Given the description of an element on the screen output the (x, y) to click on. 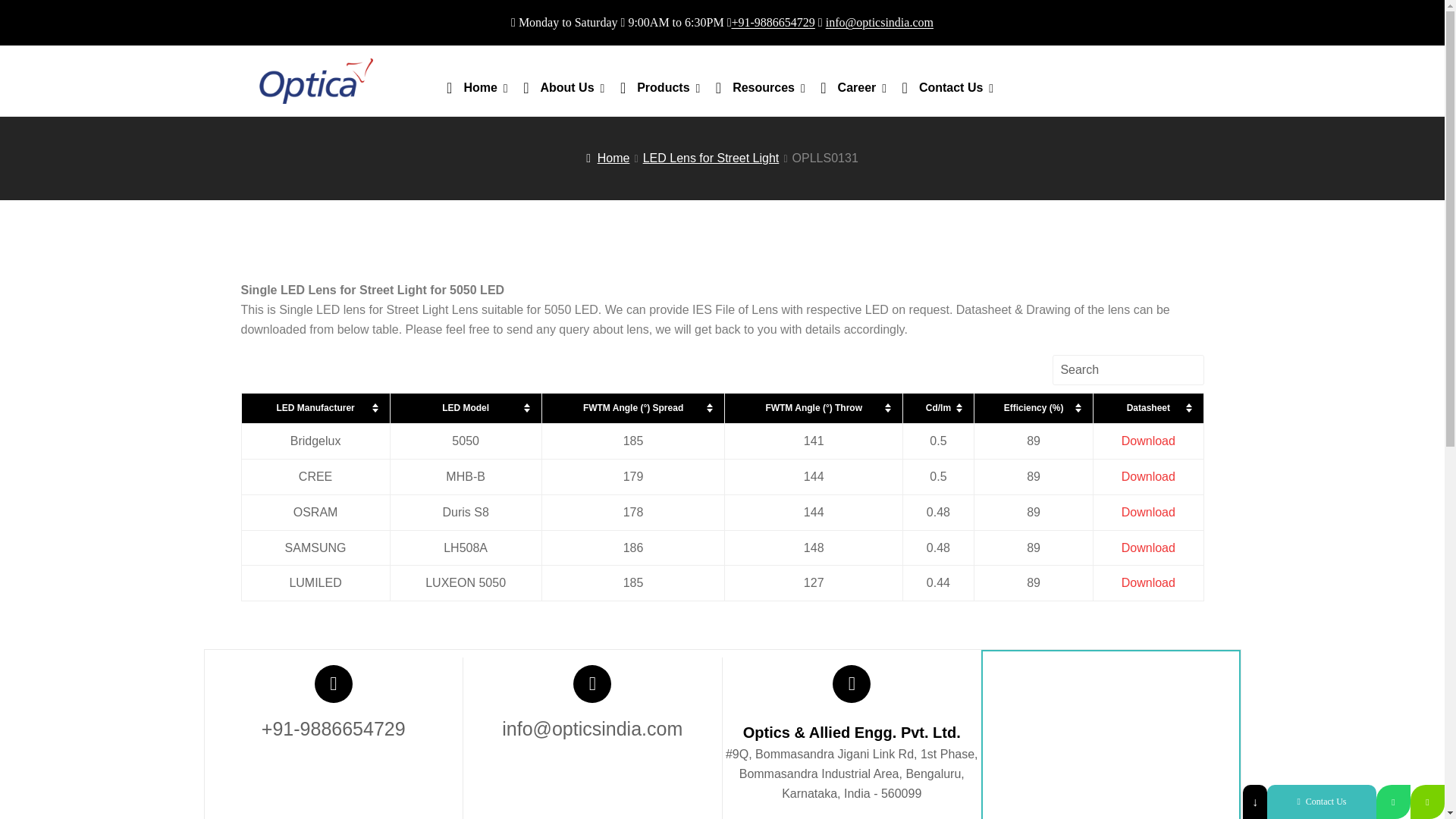
Products (660, 85)
Home (477, 85)
About Us (563, 85)
